Given the description of an element on the screen output the (x, y) to click on. 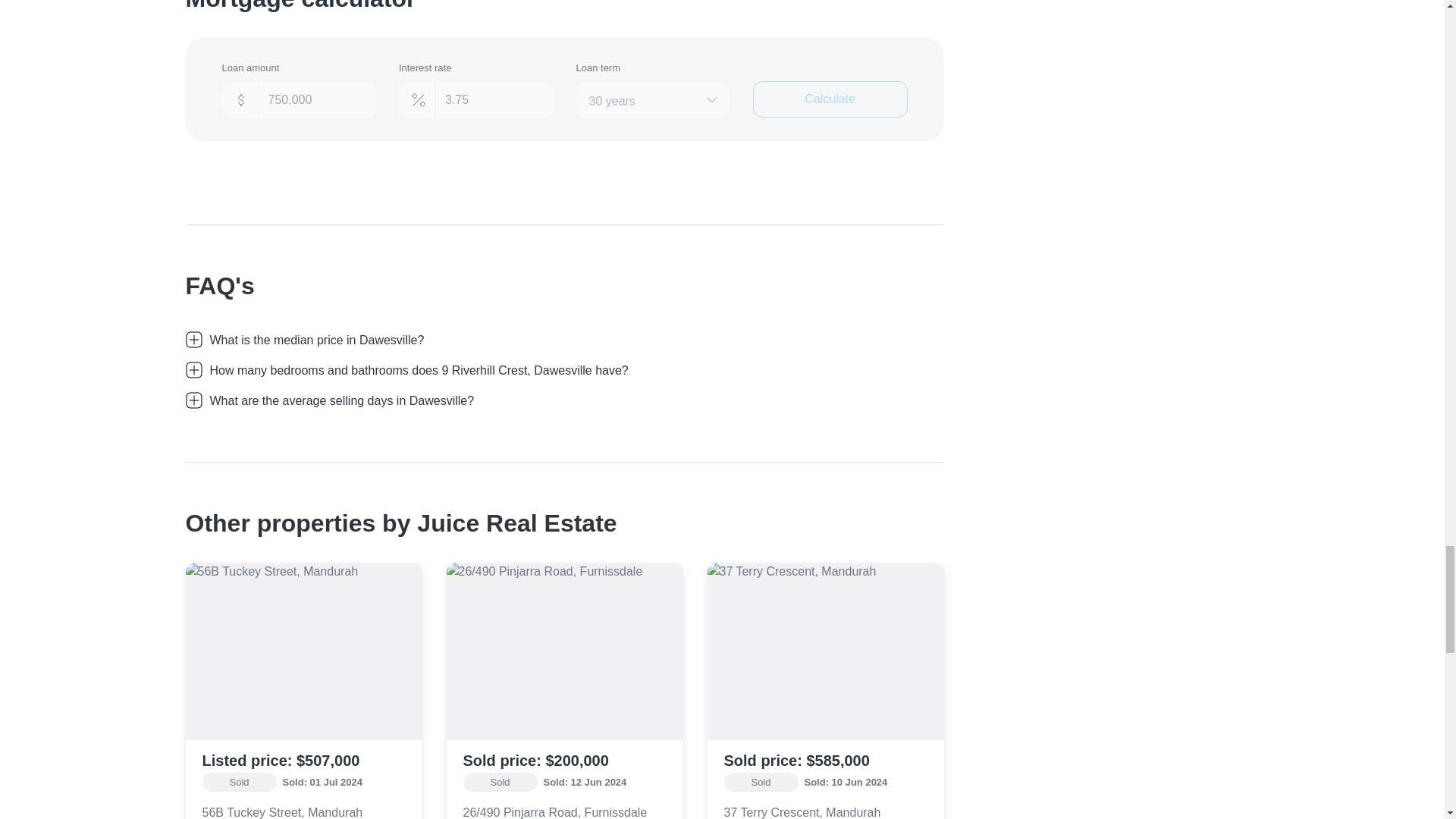
3.75 (475, 99)
750,000 (298, 99)
